Given the description of an element on the screen output the (x, y) to click on. 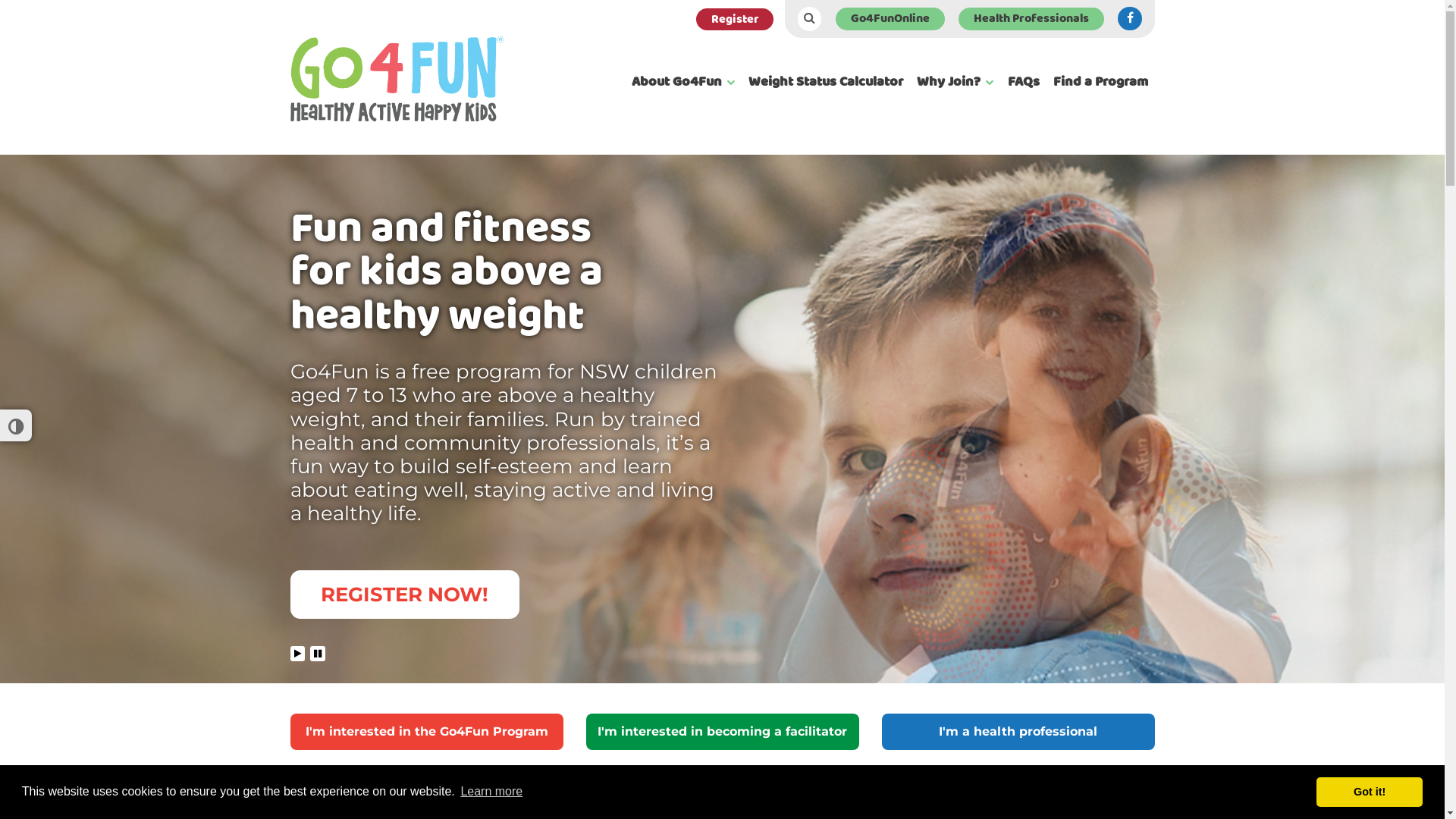
Go4FunOnline Element type: text (889, 18)
FAQs Element type: text (1023, 81)
Register Element type: text (734, 19)
Find a Program Element type: text (1100, 81)
I'm interested in becoming a facilitator Element type: text (721, 731)
Health Professionals Element type: text (1030, 18)
Learn more Element type: text (491, 791)
I'm a health professional Element type: text (1017, 731)
Why Join? Element type: text (955, 81)
REGISTER NOW! Element type: text (403, 594)
I'm interested in the Go4Fun Program Element type: text (425, 731)
Weight Status Calculator Element type: text (825, 81)
Got it! Element type: text (1369, 791)
About Go4Fun Element type: text (682, 81)
